Given the description of an element on the screen output the (x, y) to click on. 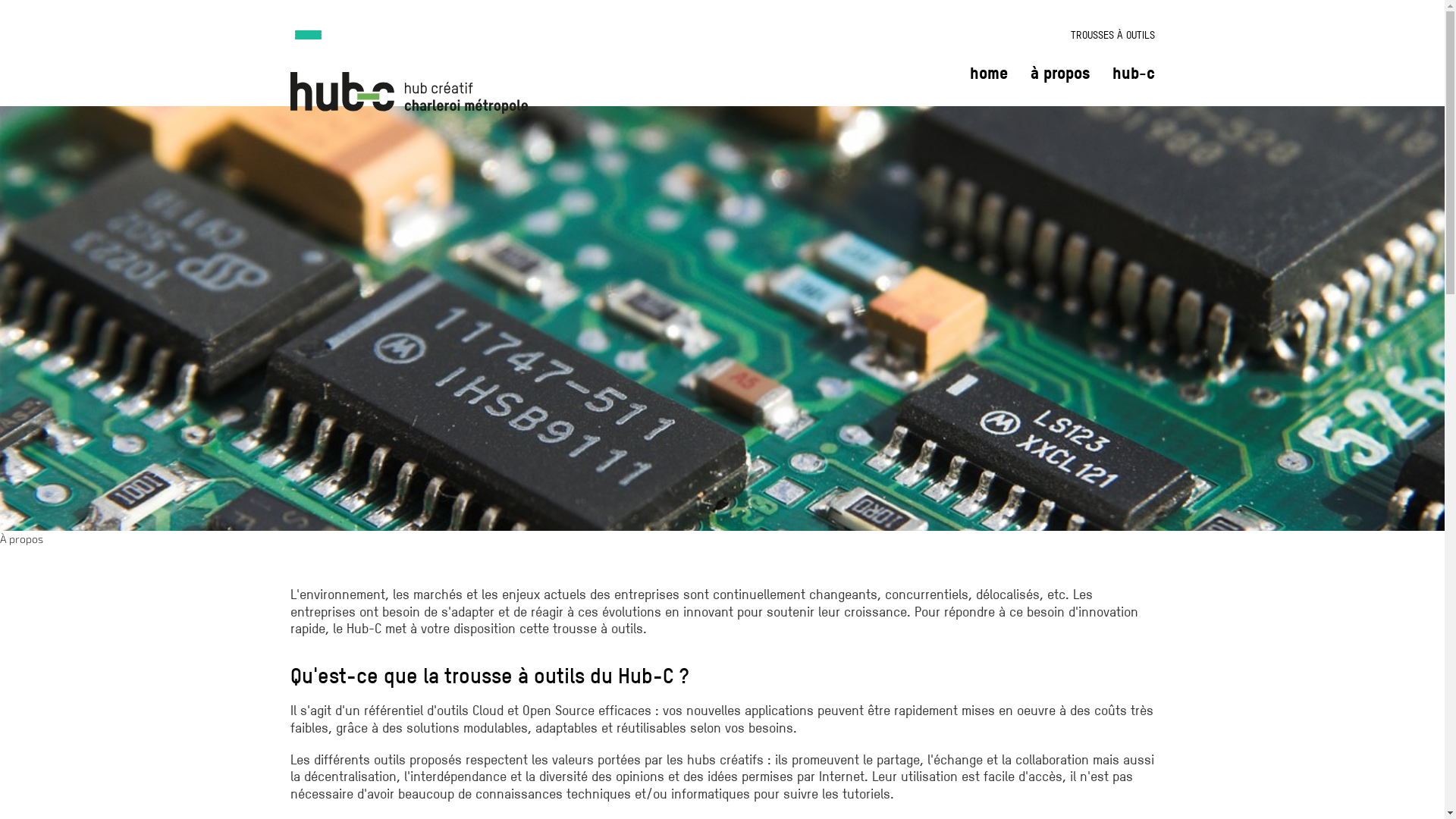
Home Element type: hover (408, 109)
Toggle navigation Element type: text (335, 26)
home Element type: text (988, 72)
hub-c Element type: text (1132, 72)
Skip to main content Element type: text (0, 0)
